Given the description of an element on the screen output the (x, y) to click on. 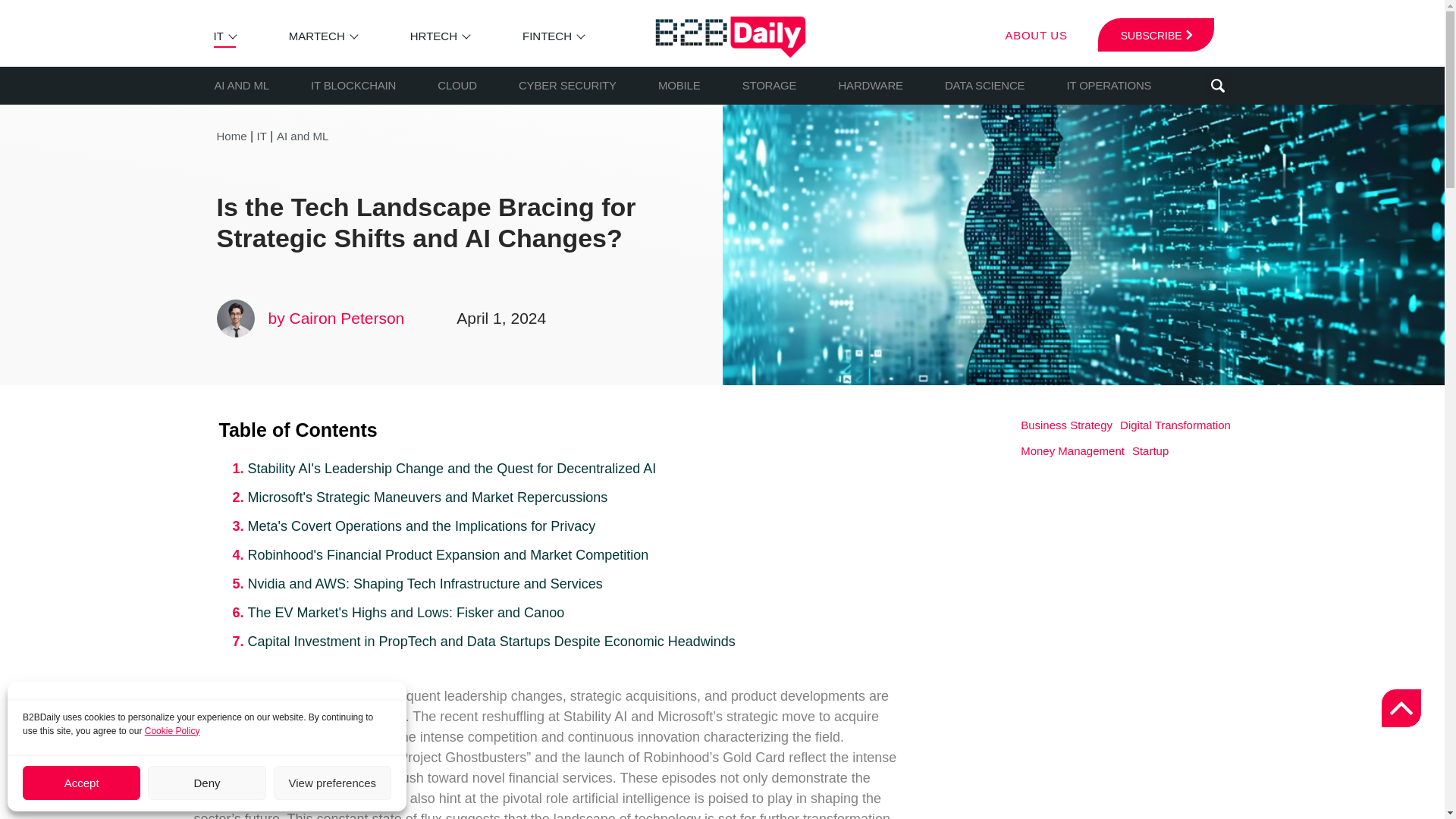
Cookie Policy (172, 730)
View preferences (332, 782)
Accept (81, 782)
MARTECH (316, 36)
Deny (206, 782)
